Given the description of an element on the screen output the (x, y) to click on. 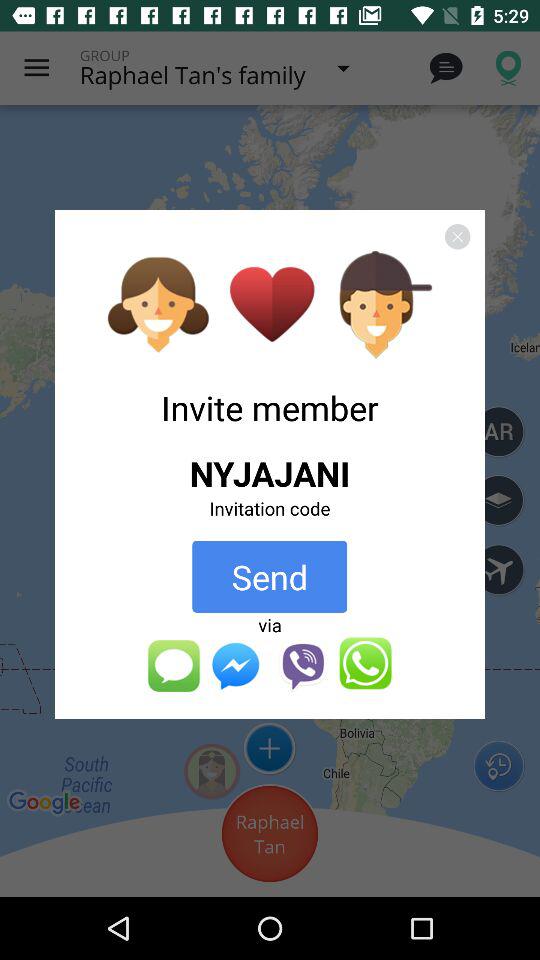
turn off icon at the top right corner (457, 236)
